Given the description of an element on the screen output the (x, y) to click on. 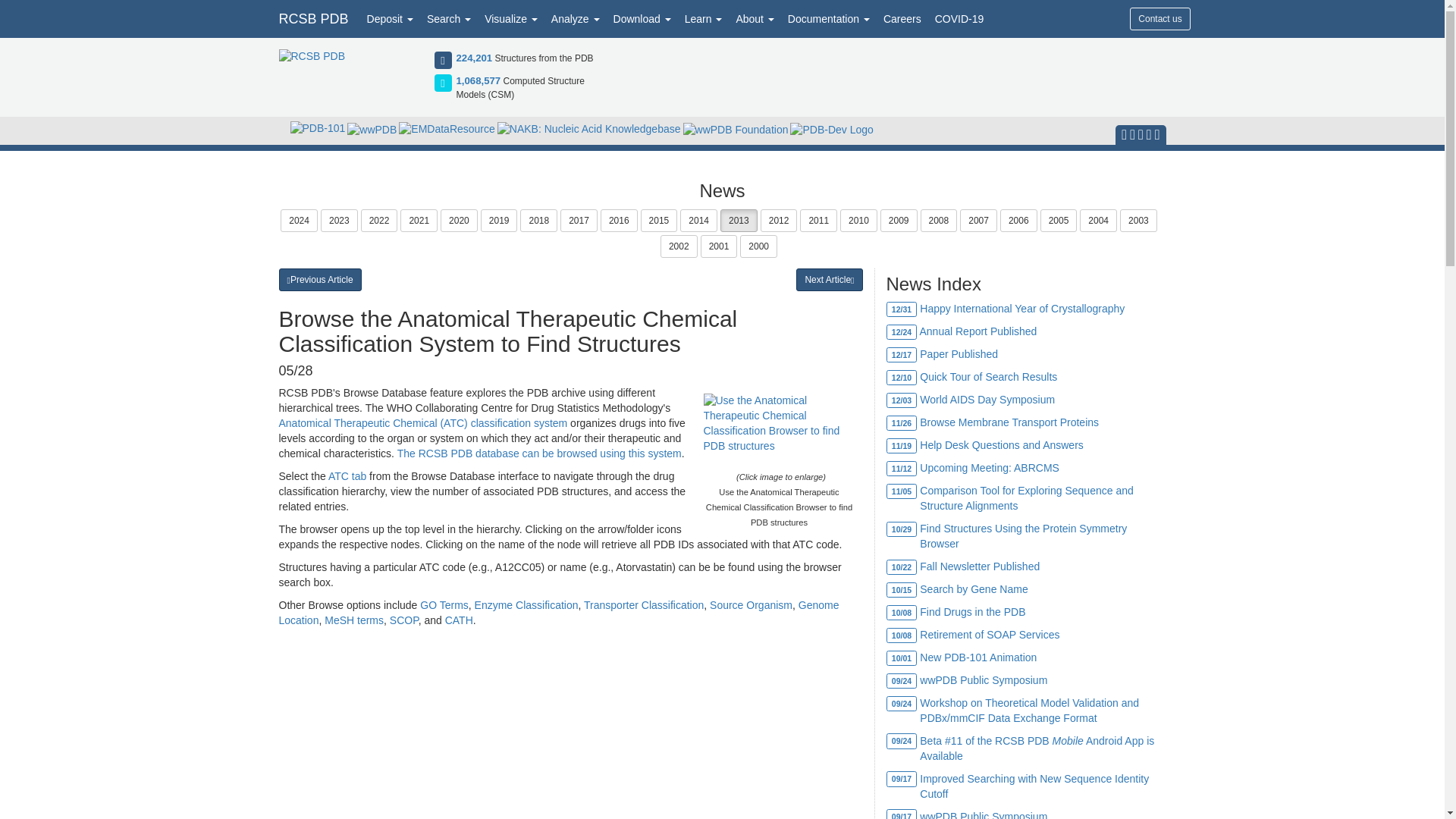
Deposit  (389, 18)
Analyze  (575, 18)
Visualize  (510, 18)
Search  (448, 18)
RCSB PDB (312, 18)
